Given the description of an element on the screen output the (x, y) to click on. 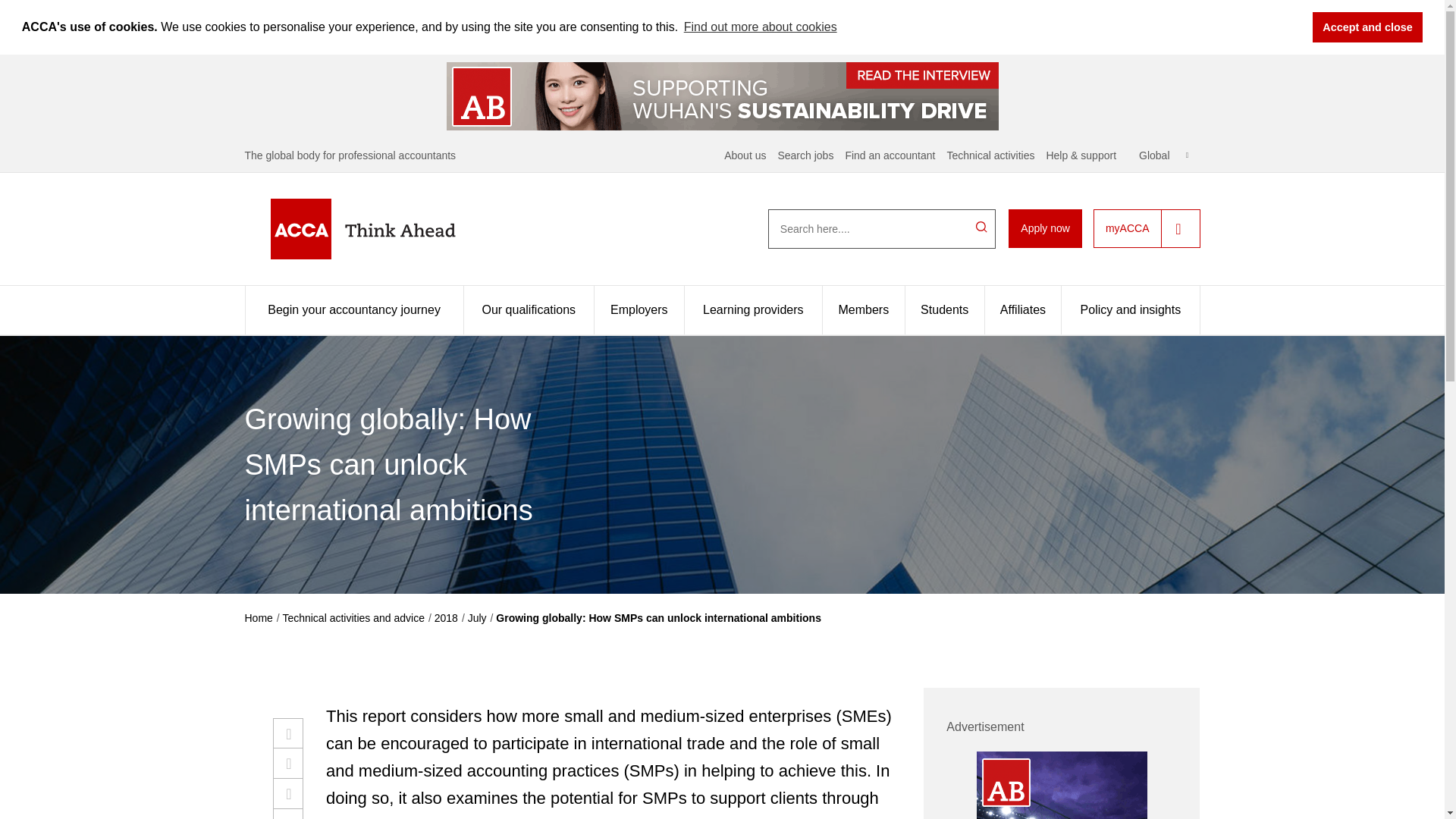
Global (1162, 154)
Find out more about cookies (760, 26)
Find an accountant (889, 154)
Accept and close (1367, 27)
About us (744, 154)
ACCA - Think Ahead (387, 229)
Technical activities (989, 154)
Search jobs (804, 154)
Global (1162, 154)
